Given the description of an element on the screen output the (x, y) to click on. 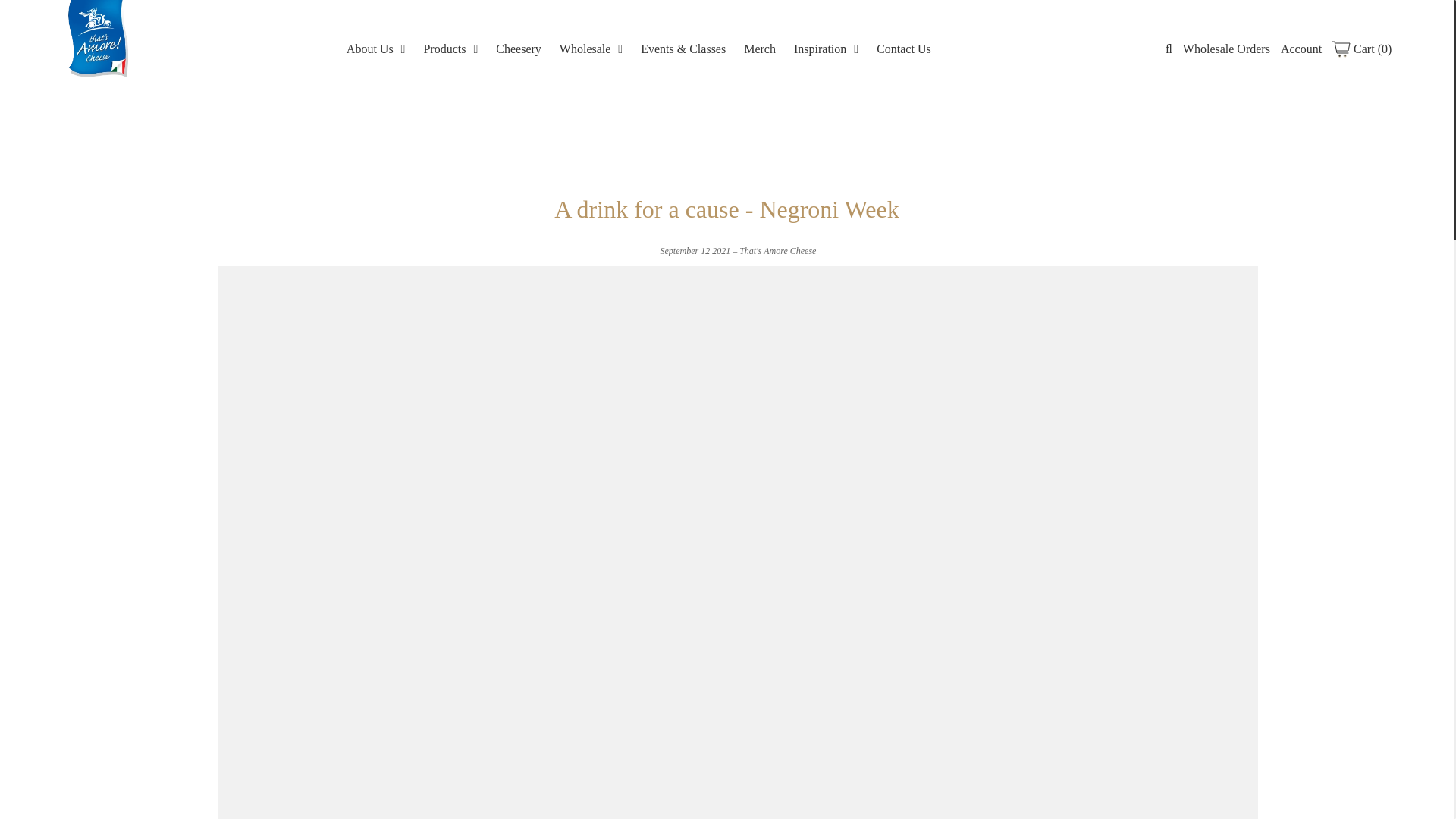
About Us (376, 47)
